Given the description of an element on the screen output the (x, y) to click on. 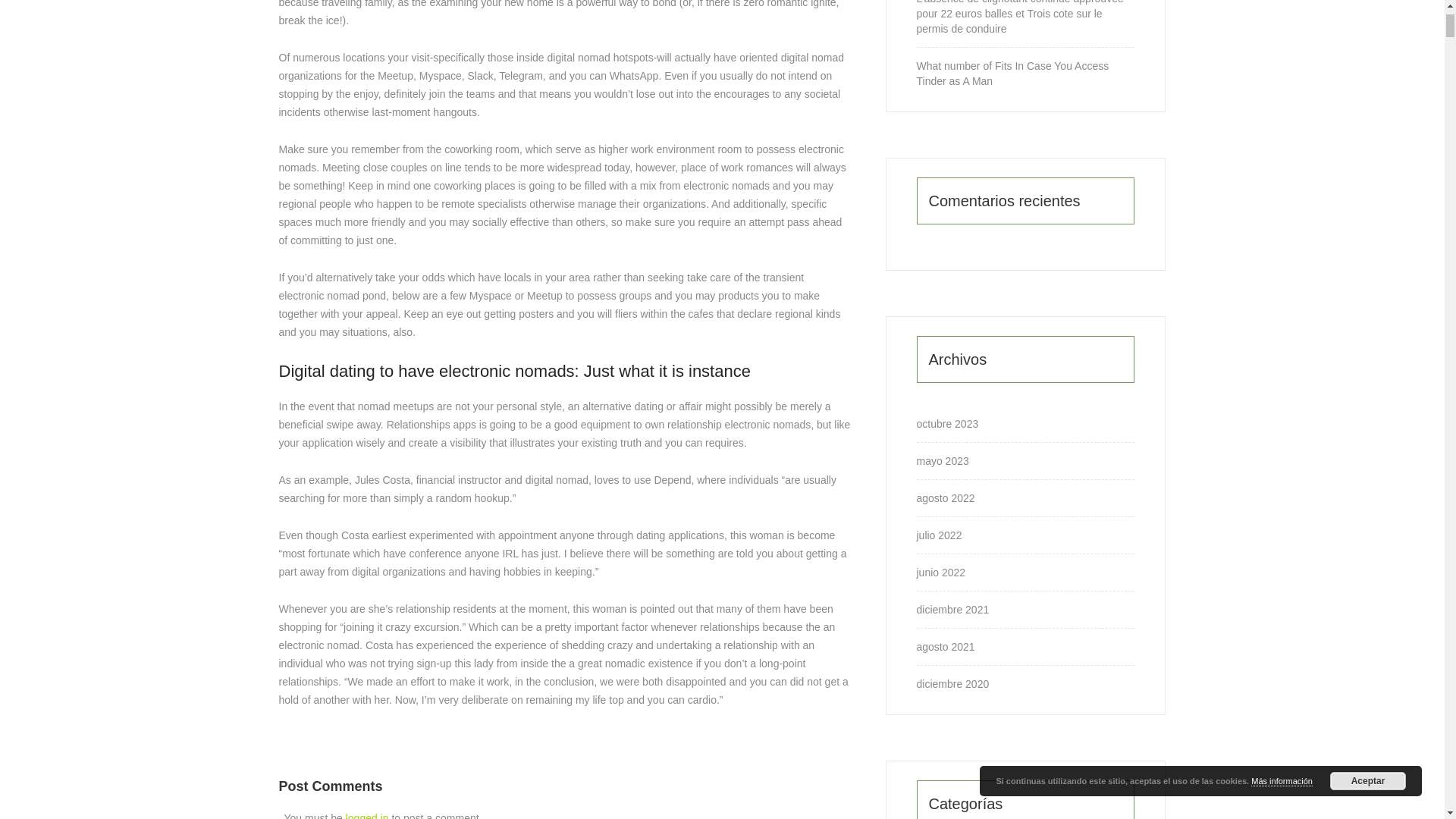
julio 2022 (937, 534)
octubre 2023 (946, 423)
mayo 2023 (941, 460)
What number of Fits In Case You Access Tinder as A Man (1024, 73)
agosto 2022 (944, 498)
logged in (367, 815)
